Given the description of an element on the screen output the (x, y) to click on. 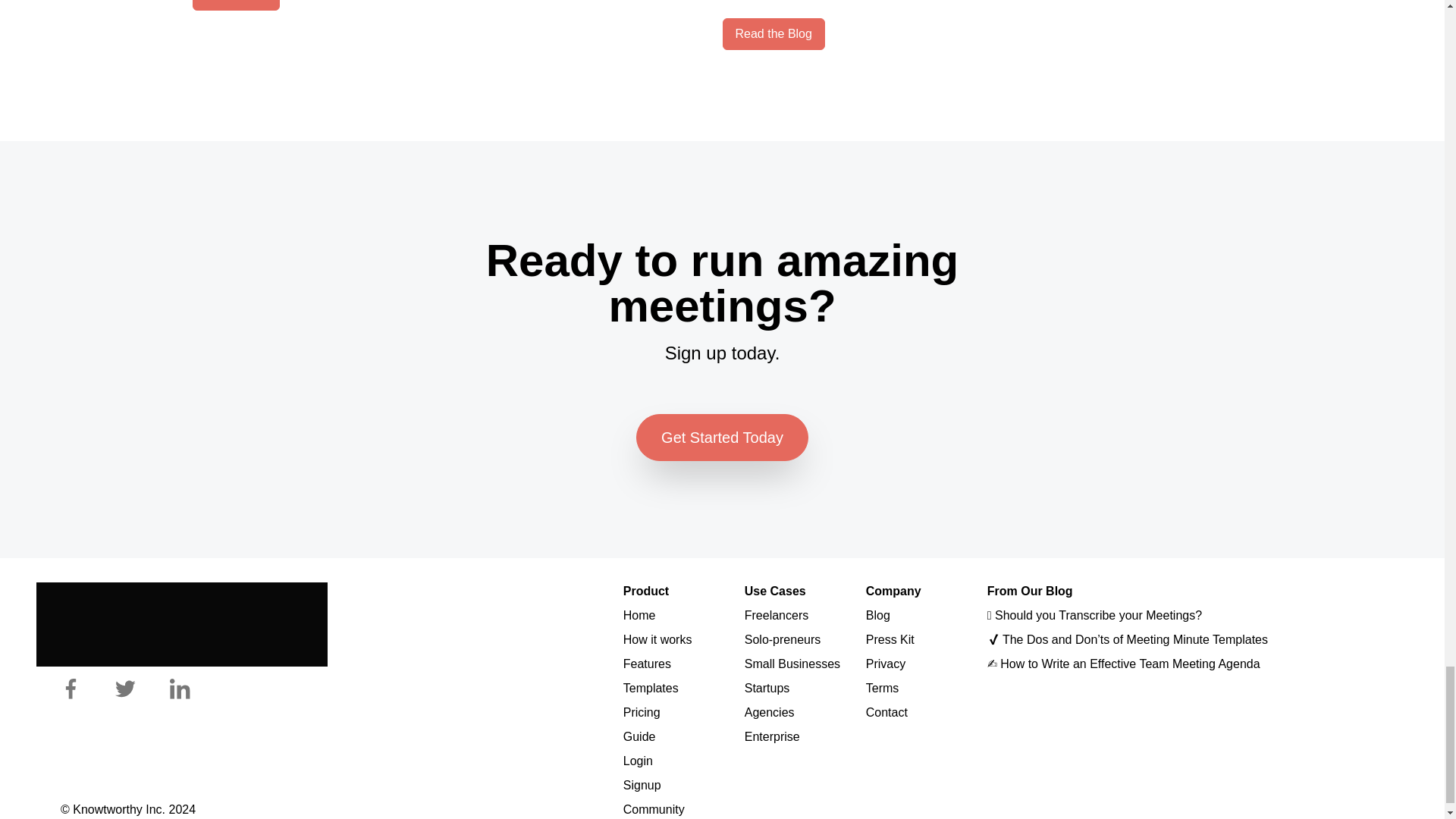
Small Businesses (792, 663)
Read the Blog (773, 33)
Terms (882, 687)
Home (639, 615)
Freelancers (776, 615)
Agencies (769, 712)
Enterprise (771, 736)
Signup (642, 784)
Press Kit (890, 639)
Solo-preneurs (782, 639)
Community (653, 809)
Blog (877, 615)
Login (637, 760)
Pricing (642, 712)
Guide (639, 736)
